Given the description of an element on the screen output the (x, y) to click on. 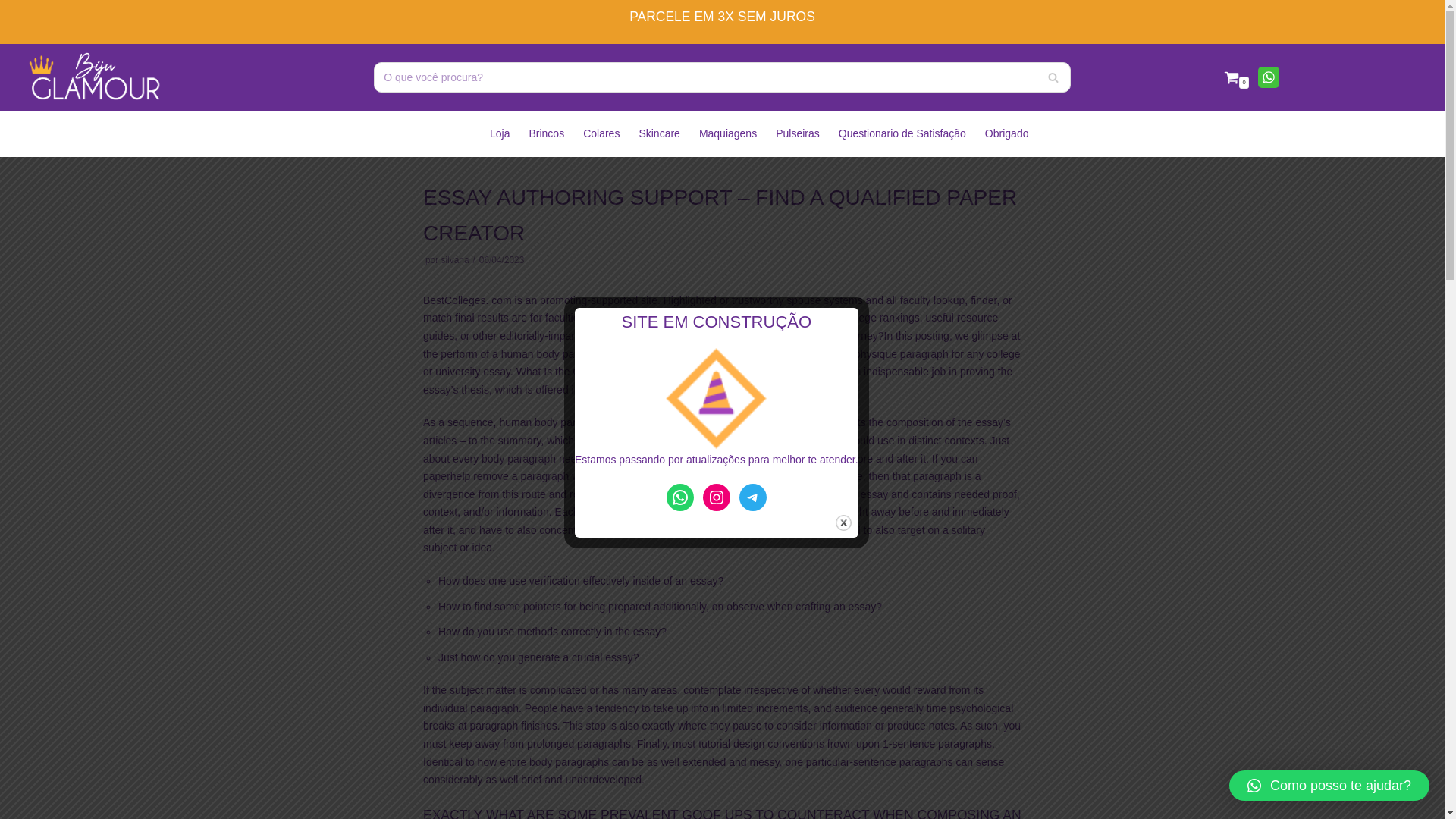
Biju Glamour (94, 76)
Maquiagens (727, 133)
silvana (454, 259)
Posts de silvana (454, 259)
paperhelp (446, 476)
Pulseiras (797, 133)
Loja (499, 133)
WhatsApp (1268, 76)
Obrigado (1007, 133)
Skincare (659, 133)
0 (1235, 77)
Colares (601, 133)
Brincos (546, 133)
